Given the description of an element on the screen output the (x, y) to click on. 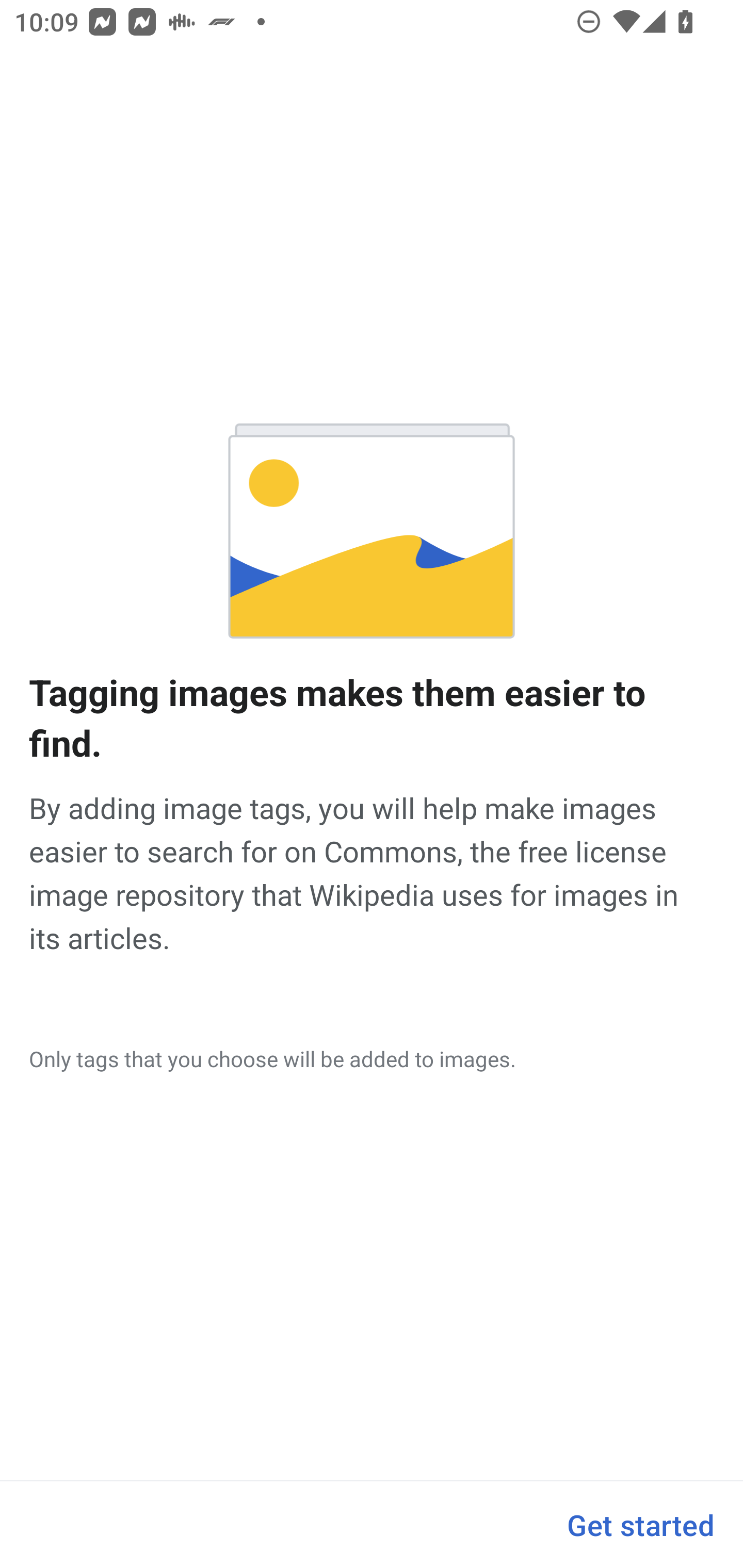
Get started (640, 1524)
